Given the description of an element on the screen output the (x, y) to click on. 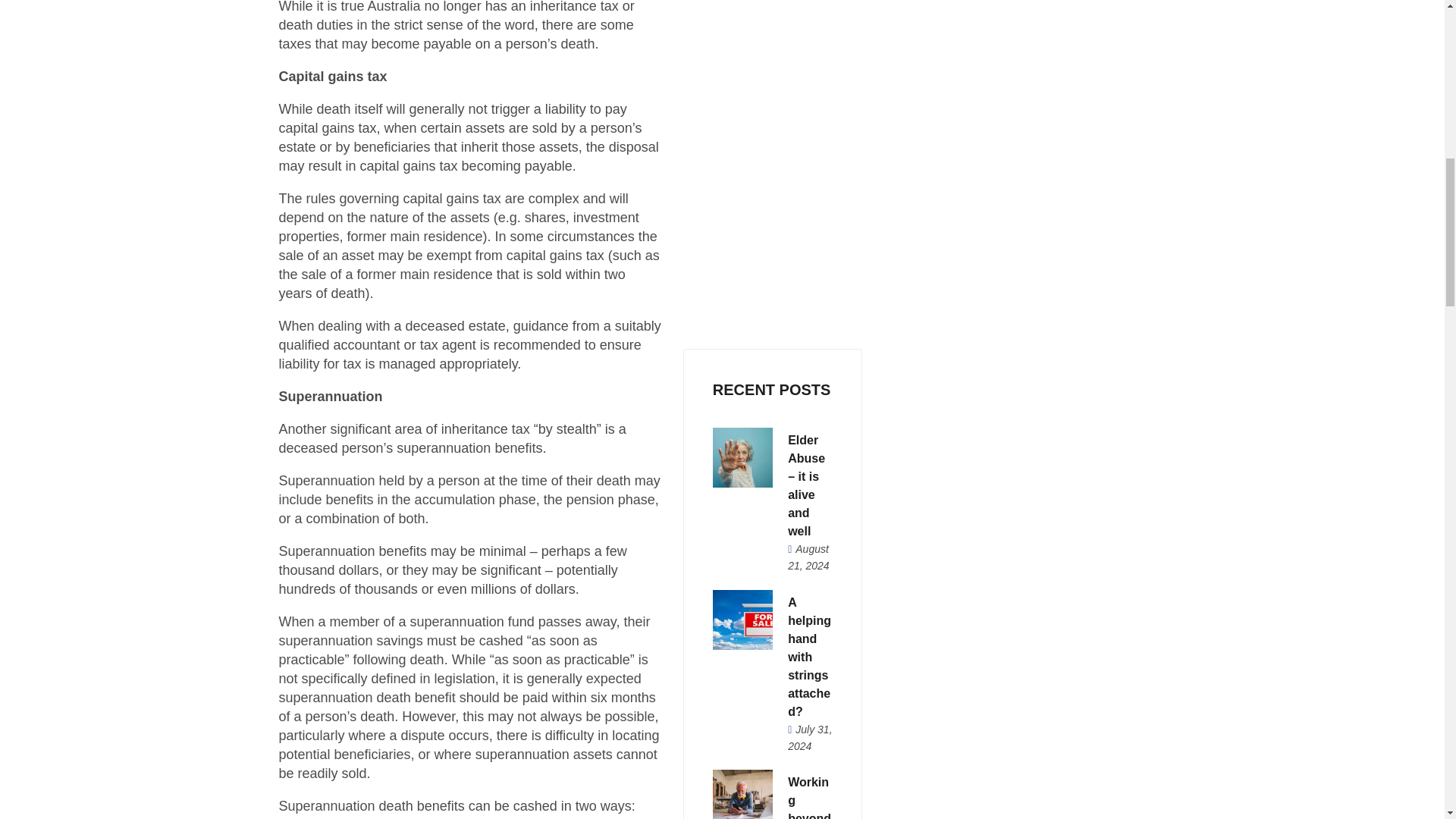
August 21, 2024 (808, 556)
Working beyond retirement age (809, 797)
July 31, 2024 (809, 737)
